Given the description of an element on the screen output the (x, y) to click on. 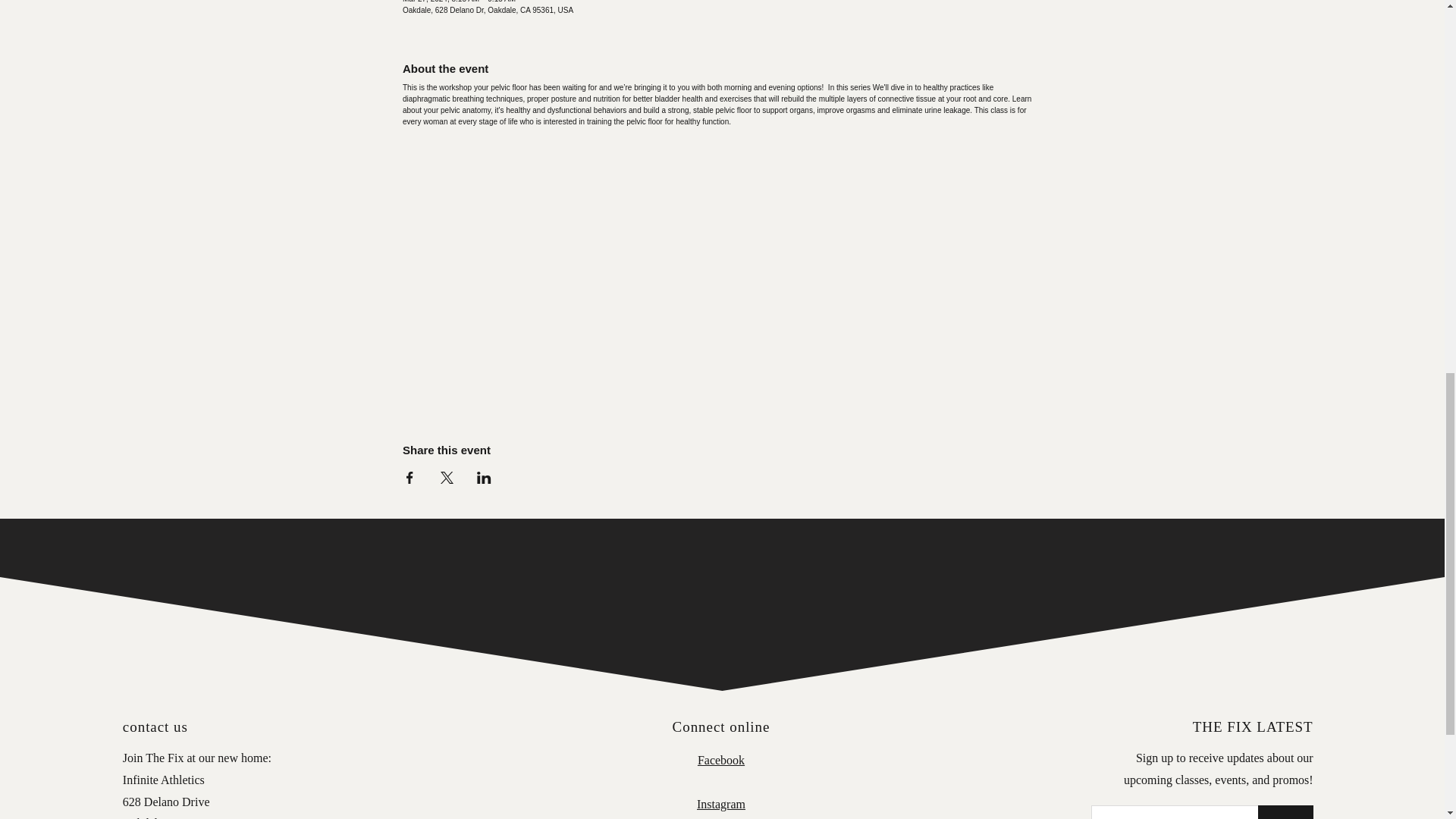
Join (1285, 812)
Facebook (720, 759)
Instagram (721, 803)
